Given the description of an element on the screen output the (x, y) to click on. 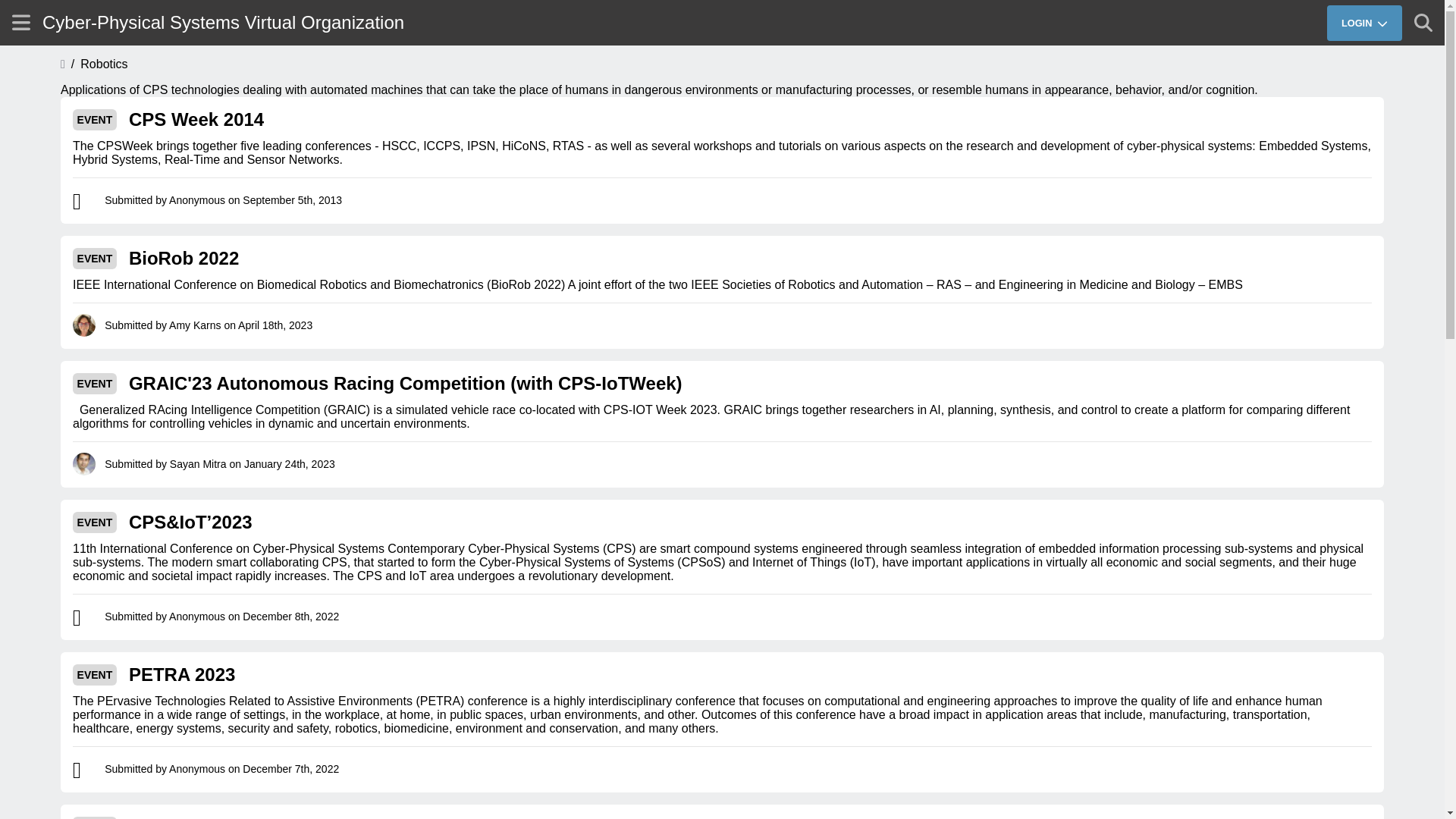
BioRob 2022 (183, 258)
PETRA 2023 (182, 674)
ANT 2023 (170, 817)
Not a member? (1289, 51)
LOGIN (1364, 22)
CPS Week 2014 (196, 119)
Cyber-Physical Systems Virtual Organization (223, 22)
SUBMIT (1389, 63)
